Given the description of an element on the screen output the (x, y) to click on. 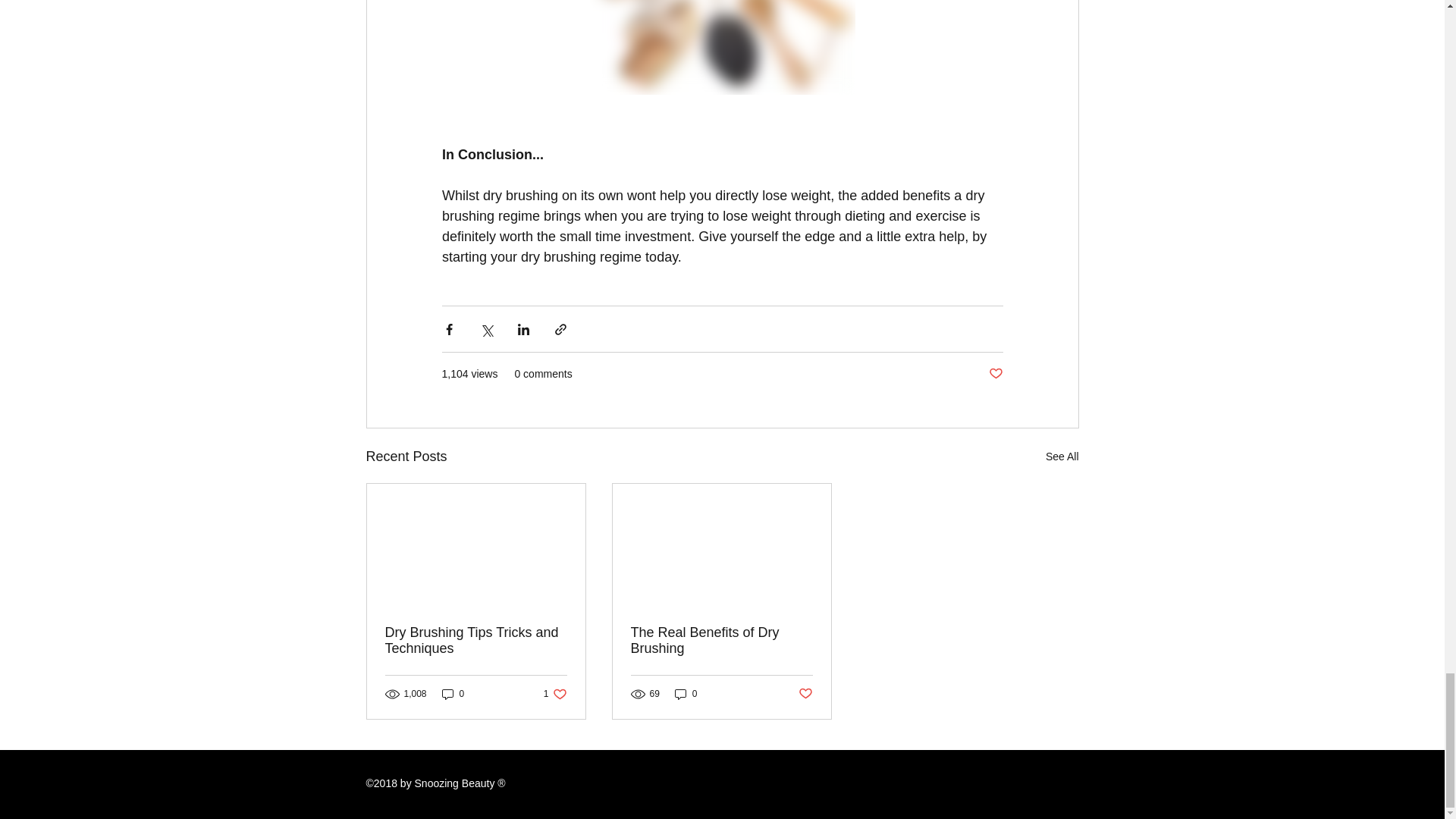
Post not marked as liked (555, 694)
Dry Brushing Tips Tricks and Techniques (995, 374)
See All (476, 640)
0 (1061, 456)
The Real Benefits of Dry Brushing (453, 694)
Post not marked as liked (721, 640)
0 (804, 693)
